Given the description of an element on the screen output the (x, y) to click on. 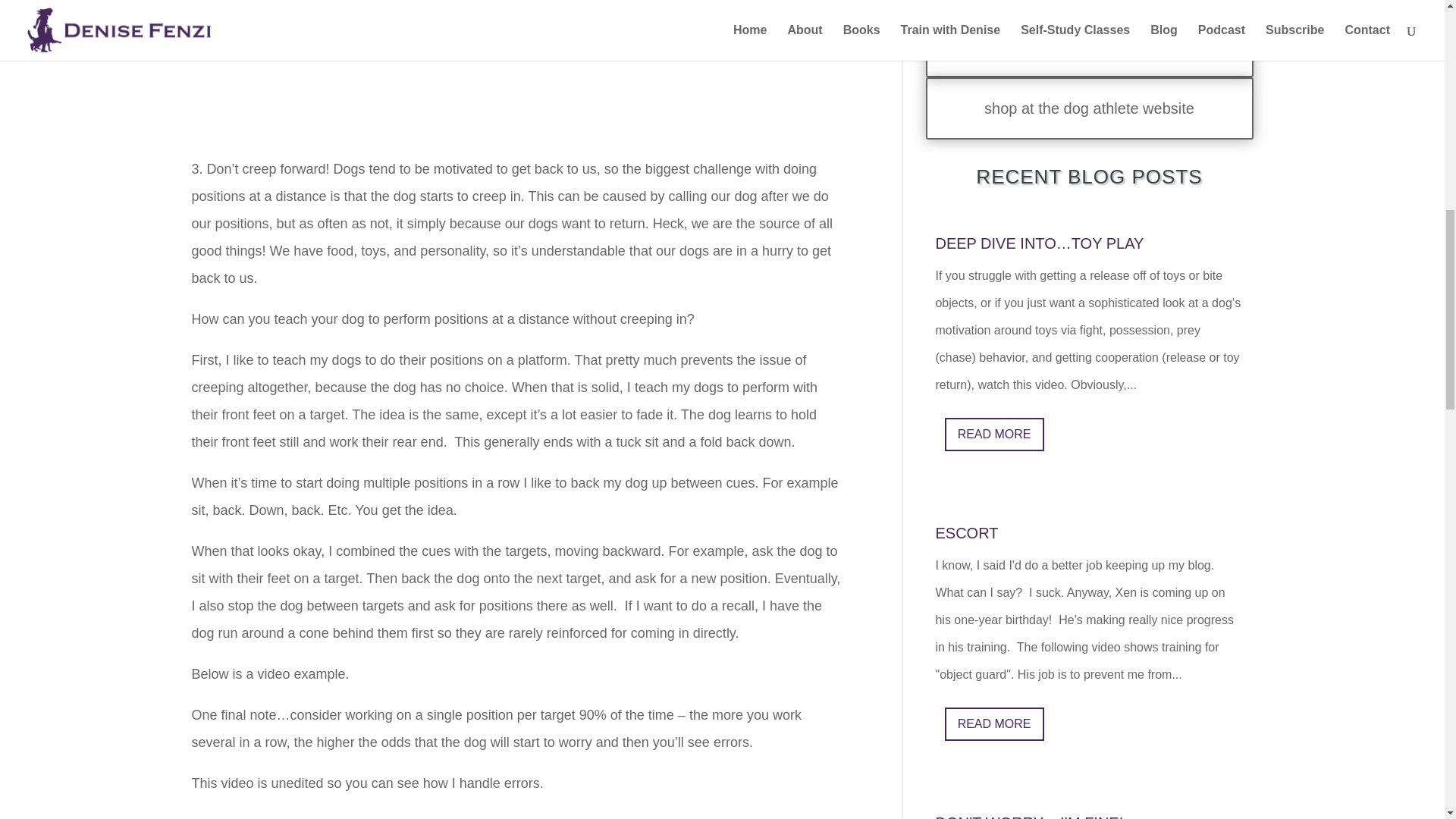
visit fenzi dog sports academy (1088, 45)
shop at the dog athlete website (1088, 107)
READ MORE (993, 434)
READ MORE (993, 724)
ESCORT (965, 532)
